Given the description of an element on the screen output the (x, y) to click on. 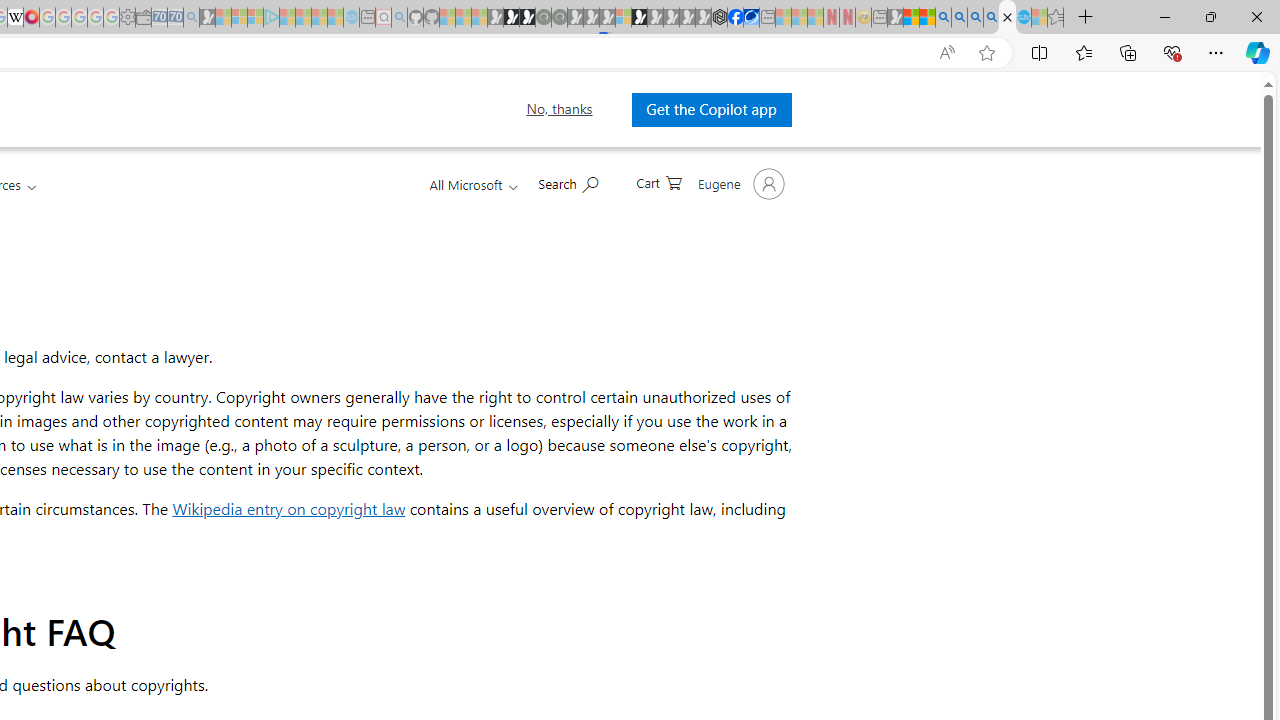
2009 Bing officially replaced Live Search on June 3 - Search (959, 17)
Favorites - Sleeping (1055, 17)
Get the Copilot app  (711, 109)
Bing AI - Search (943, 17)
Google Chrome Internet Browser Download - Search Images (991, 17)
